Given the description of an element on the screen output the (x, y) to click on. 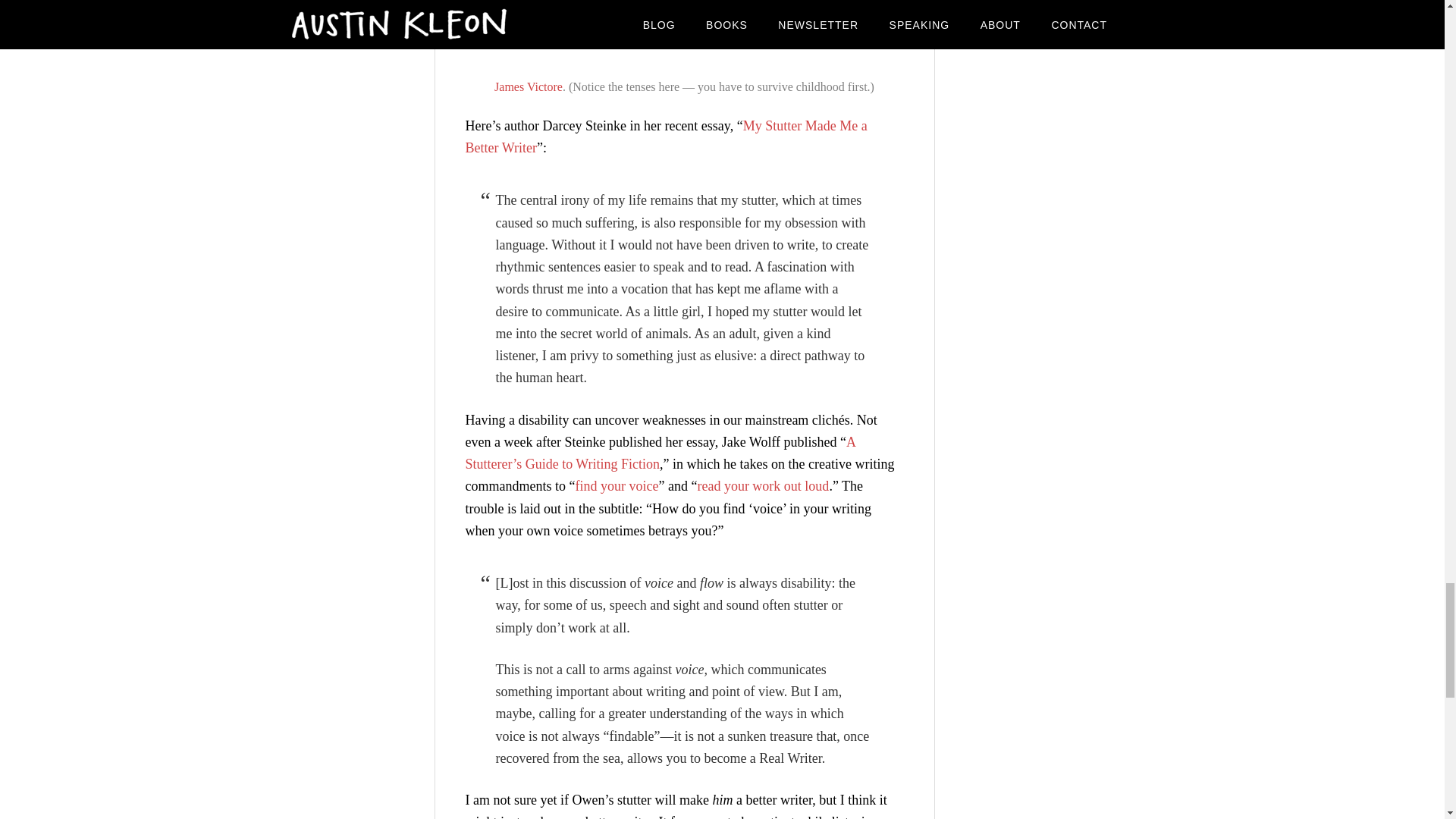
find your voice (616, 485)
read your work out loud (762, 485)
James Victore (528, 86)
My Stutter Made Me a Better Writer (666, 136)
